Given the description of an element on the screen output the (x, y) to click on. 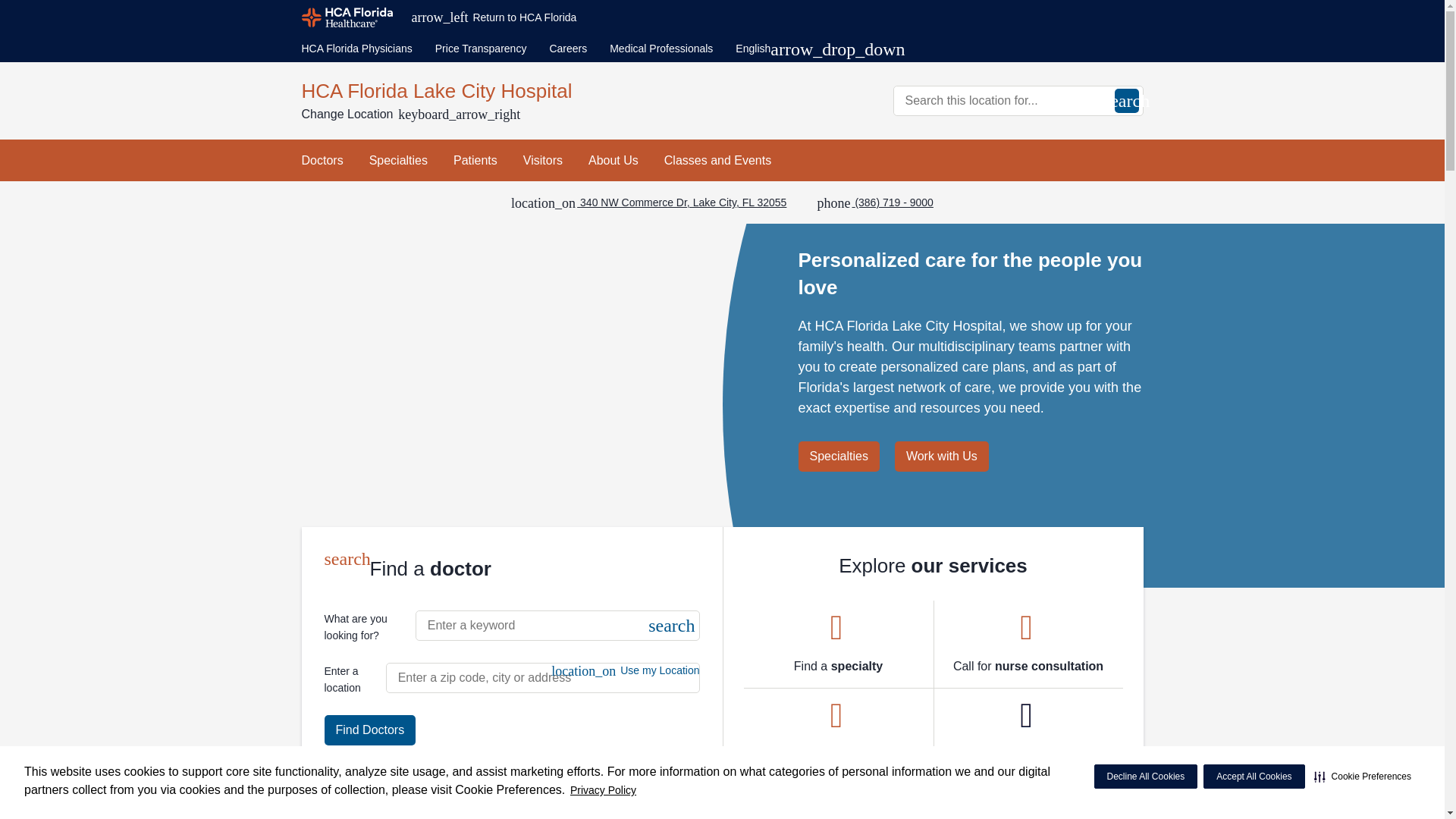
Cookie Preferences (1362, 776)
Doctors (322, 159)
Patients (474, 159)
Decline All Cookies (1144, 776)
Medical Professionals (661, 48)
HCA Florida Physicians (356, 48)
Privacy Policy (603, 790)
Visitors (542, 159)
Skip to Content (3, 3)
Accept All Cookies (1254, 776)
Specialties (398, 159)
HCA Florida Lake City Hospital (506, 90)
Price Transparency (481, 48)
search (1126, 100)
Careers (567, 48)
